Given the description of an element on the screen output the (x, y) to click on. 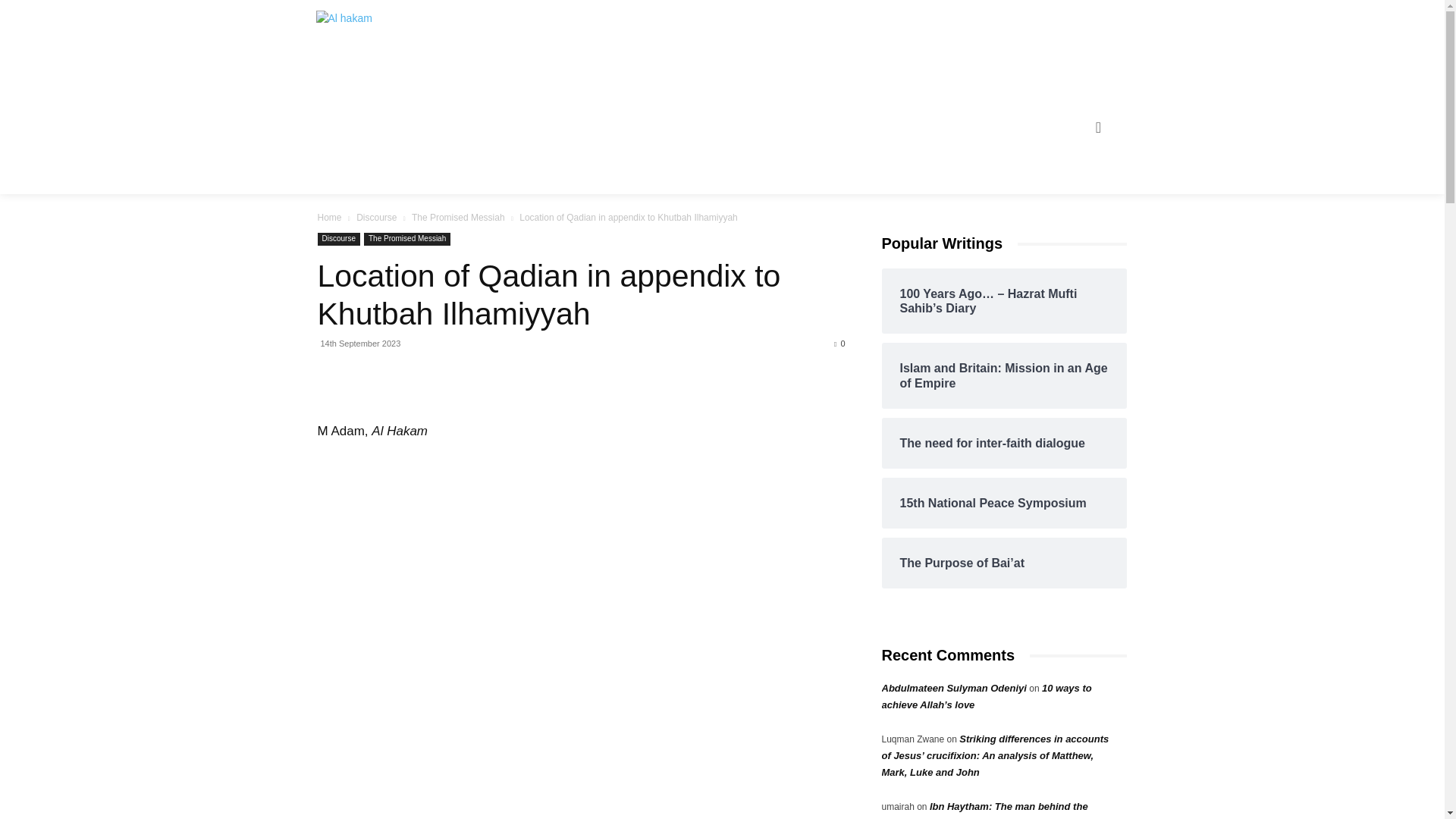
View all posts in Discourse (376, 217)
View all posts in The Promised Messiah (458, 217)
Alhakam (372, 27)
